Given the description of an element on the screen output the (x, y) to click on. 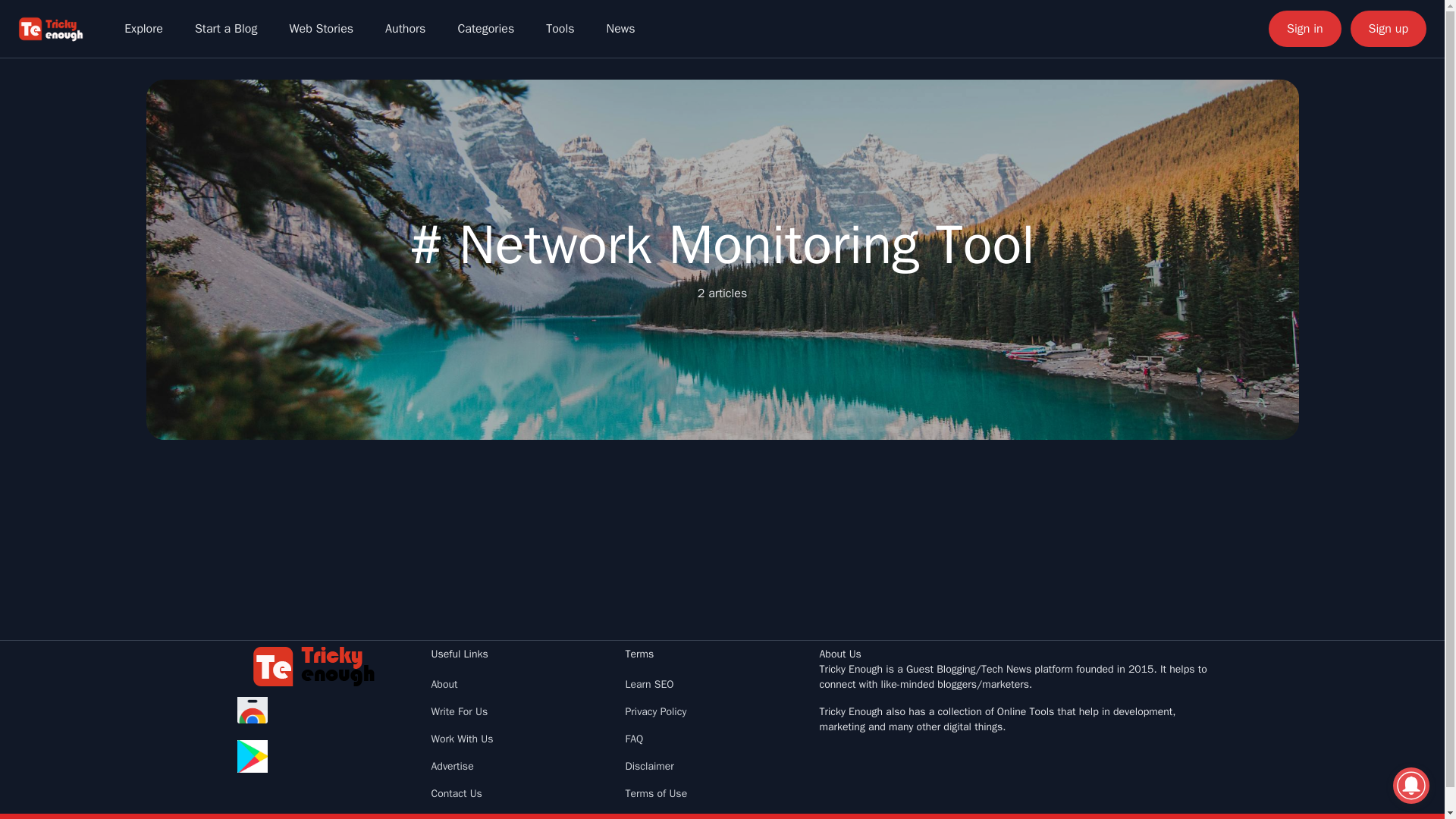
Categories (485, 28)
Authors (405, 28)
Write For Us (458, 711)
Work With Us (461, 738)
Start a Blog (225, 28)
Learn SEO (648, 684)
Sign in (1304, 28)
About (443, 684)
Contact Us (455, 793)
Advertise (451, 766)
